Given the description of an element on the screen output the (x, y) to click on. 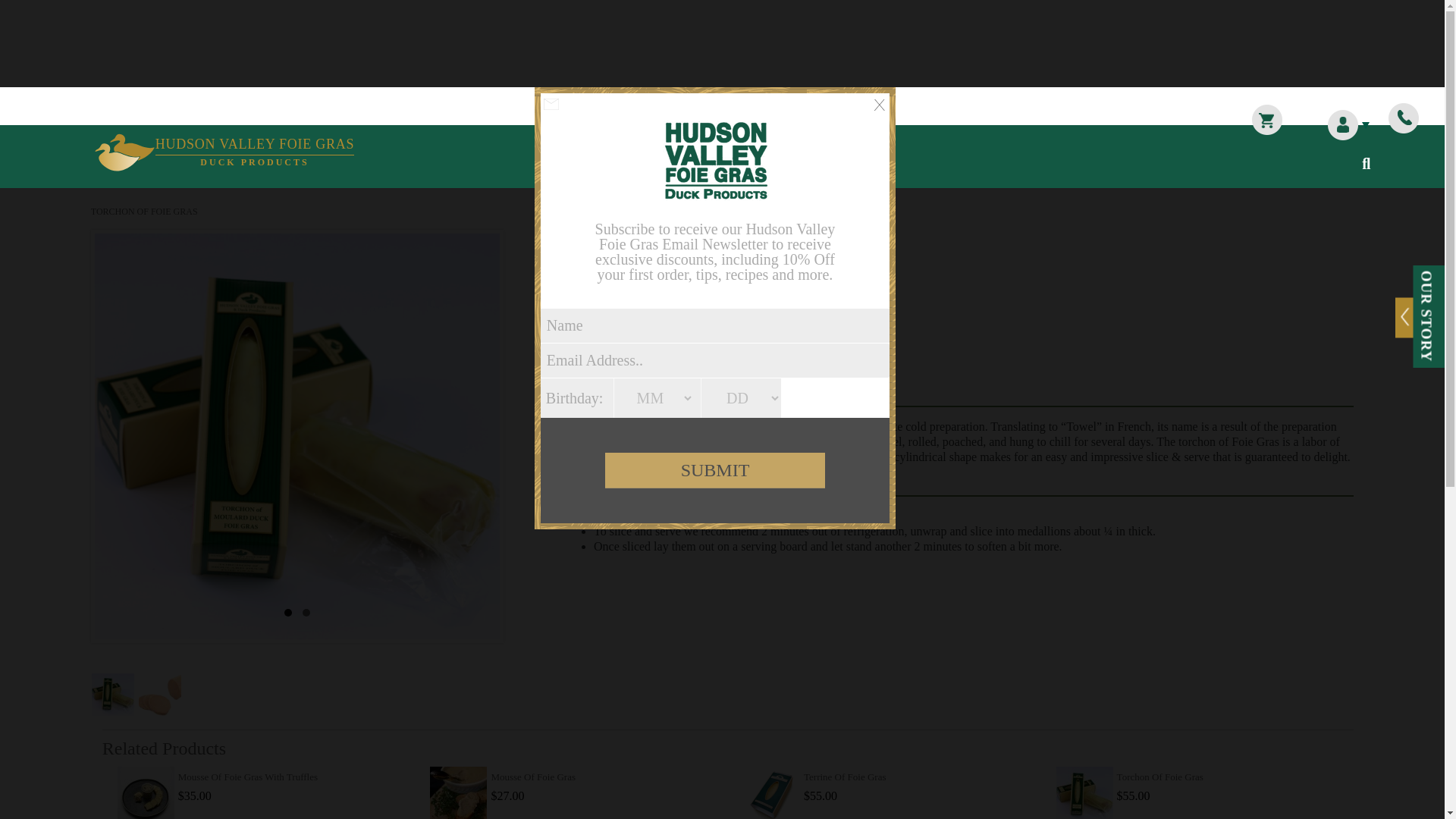
SUBMIT (715, 470)
Qty (223, 151)
Mousse of Foie Gras with Truffles (605, 356)
Mousse of Foie Gras (145, 790)
845.292.2500 (458, 790)
Terrine of Foie Gras  (1403, 118)
1 (771, 790)
Name (605, 356)
Email Address.. (714, 325)
Add to Cart (714, 360)
